Given the description of an element on the screen output the (x, y) to click on. 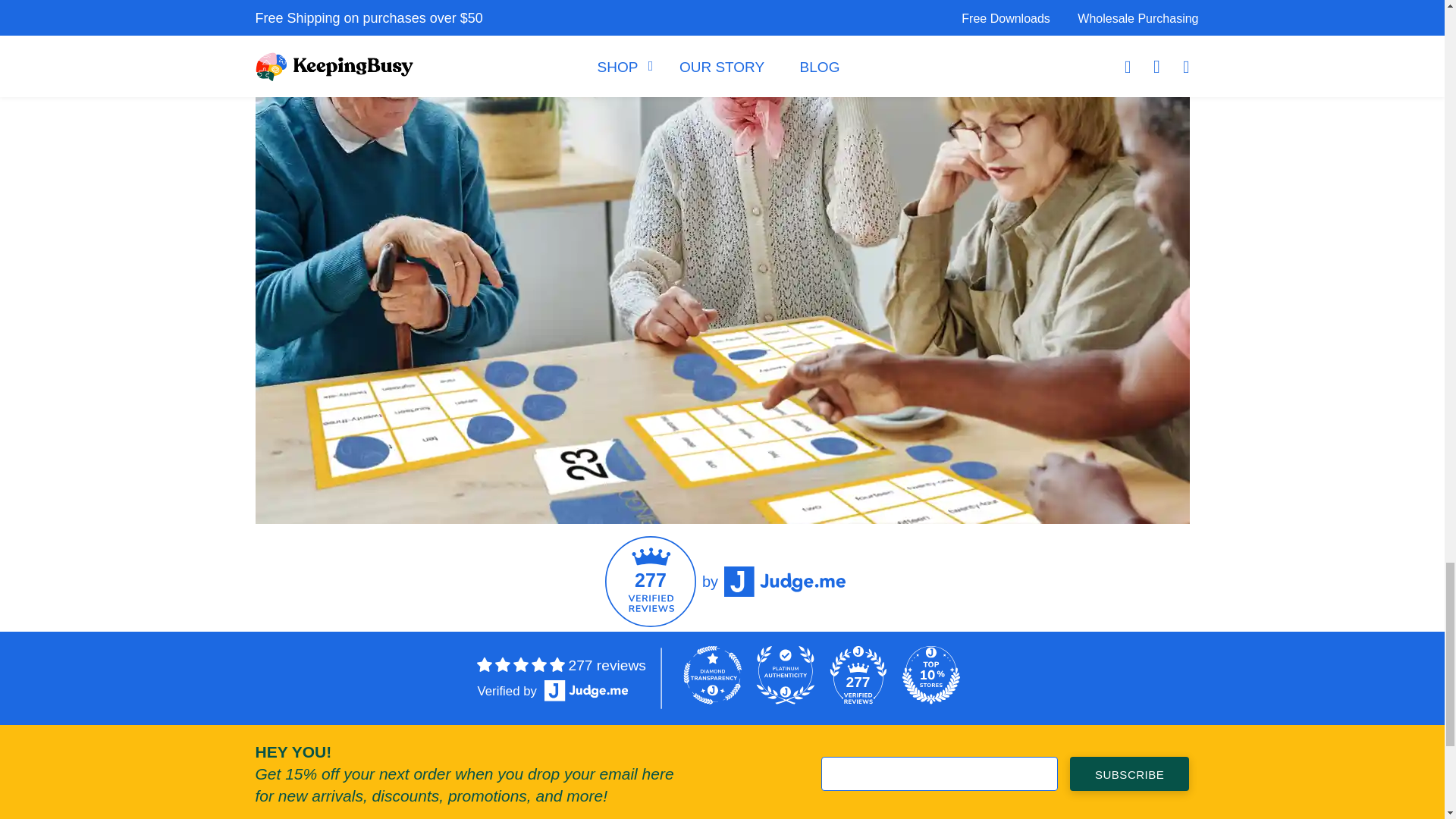
Subscribe (1129, 773)
